Given the description of an element on the screen output the (x, y) to click on. 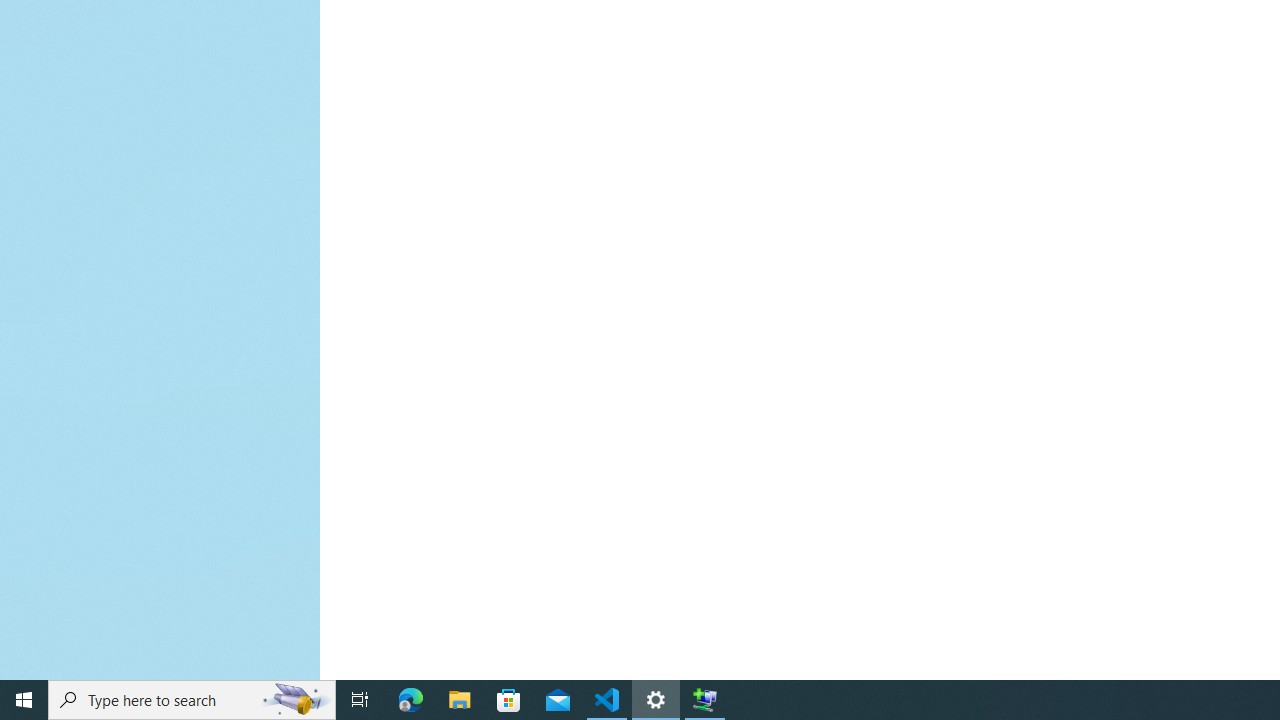
Microsoft Edge (411, 699)
Settings - 1 running window (656, 699)
Start (24, 699)
Type here to search (191, 699)
Extensible Wizards Host Process - 1 running window (704, 699)
File Explorer (460, 699)
Task View (359, 699)
Microsoft Store (509, 699)
Visual Studio Code - 1 running window (607, 699)
Search highlights icon opens search home window (295, 699)
